Given the description of an element on the screen output the (x, y) to click on. 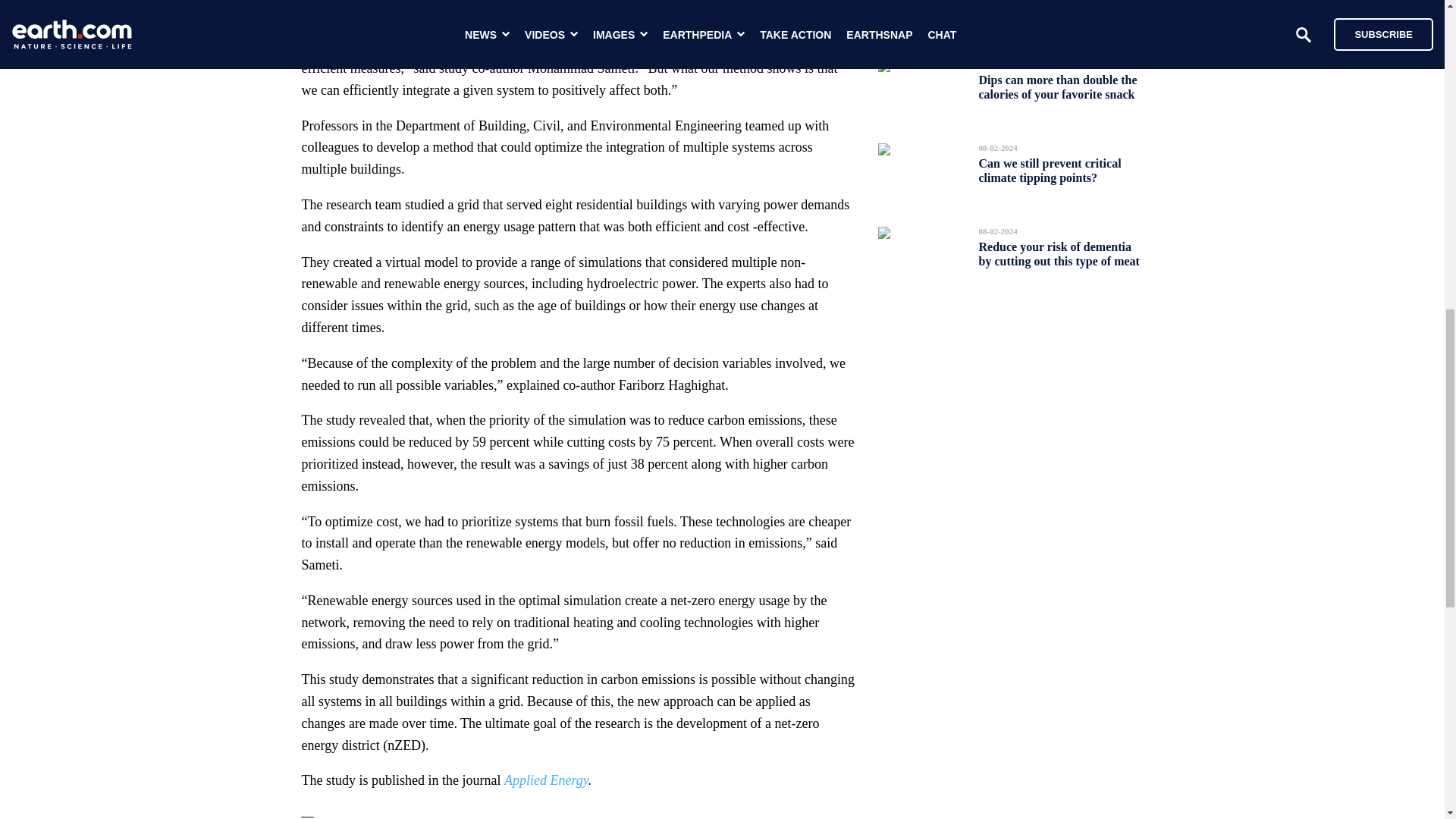
climate change (448, 10)
Can we still prevent critical climate tipping points? (1049, 170)
Applied Energy (545, 780)
